Given the description of an element on the screen output the (x, y) to click on. 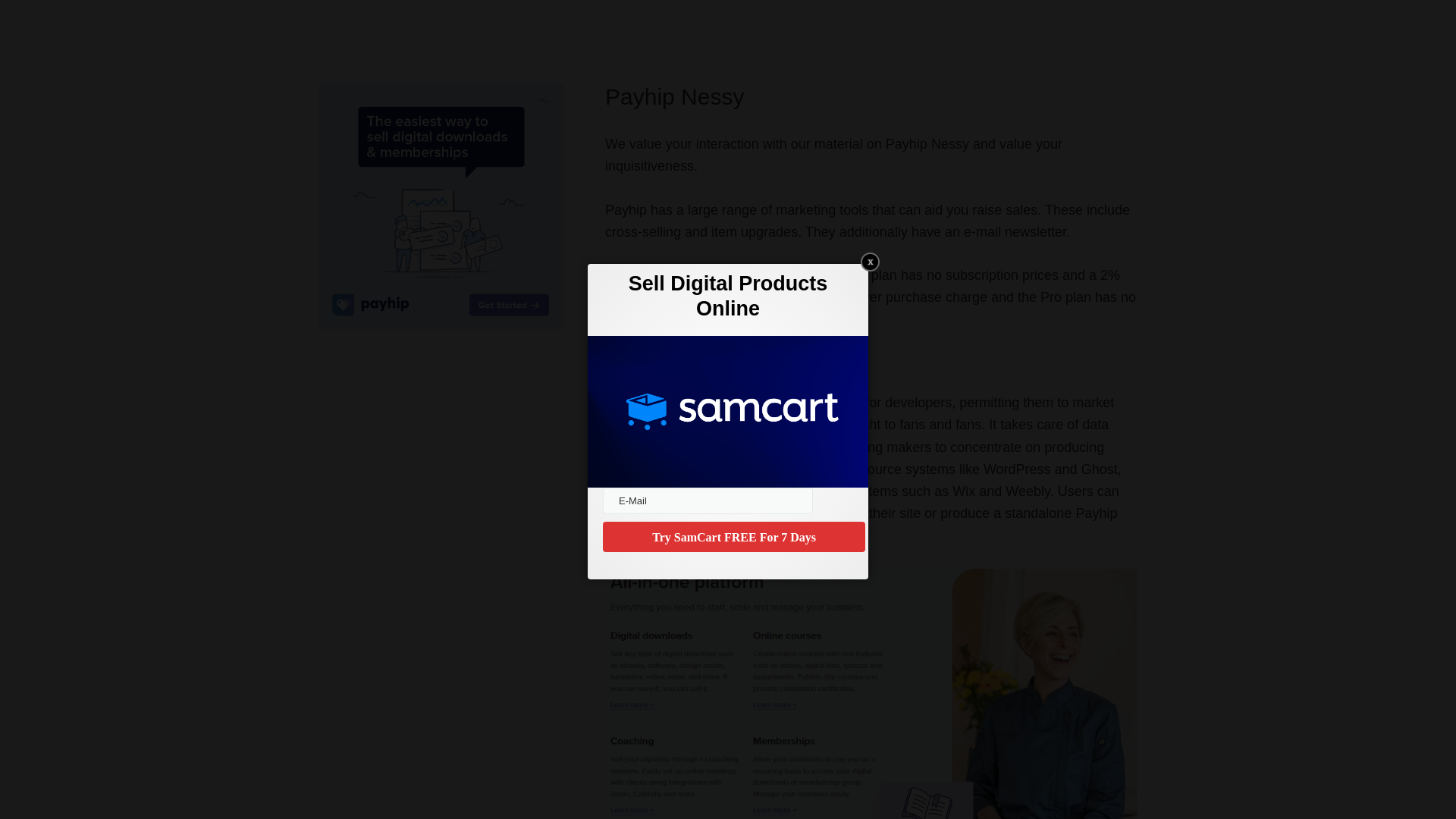
Try SamCart FREE For 7 Days (733, 536)
Try SamCart FREE For 7 Days (733, 536)
